Given the description of an element on the screen output the (x, y) to click on. 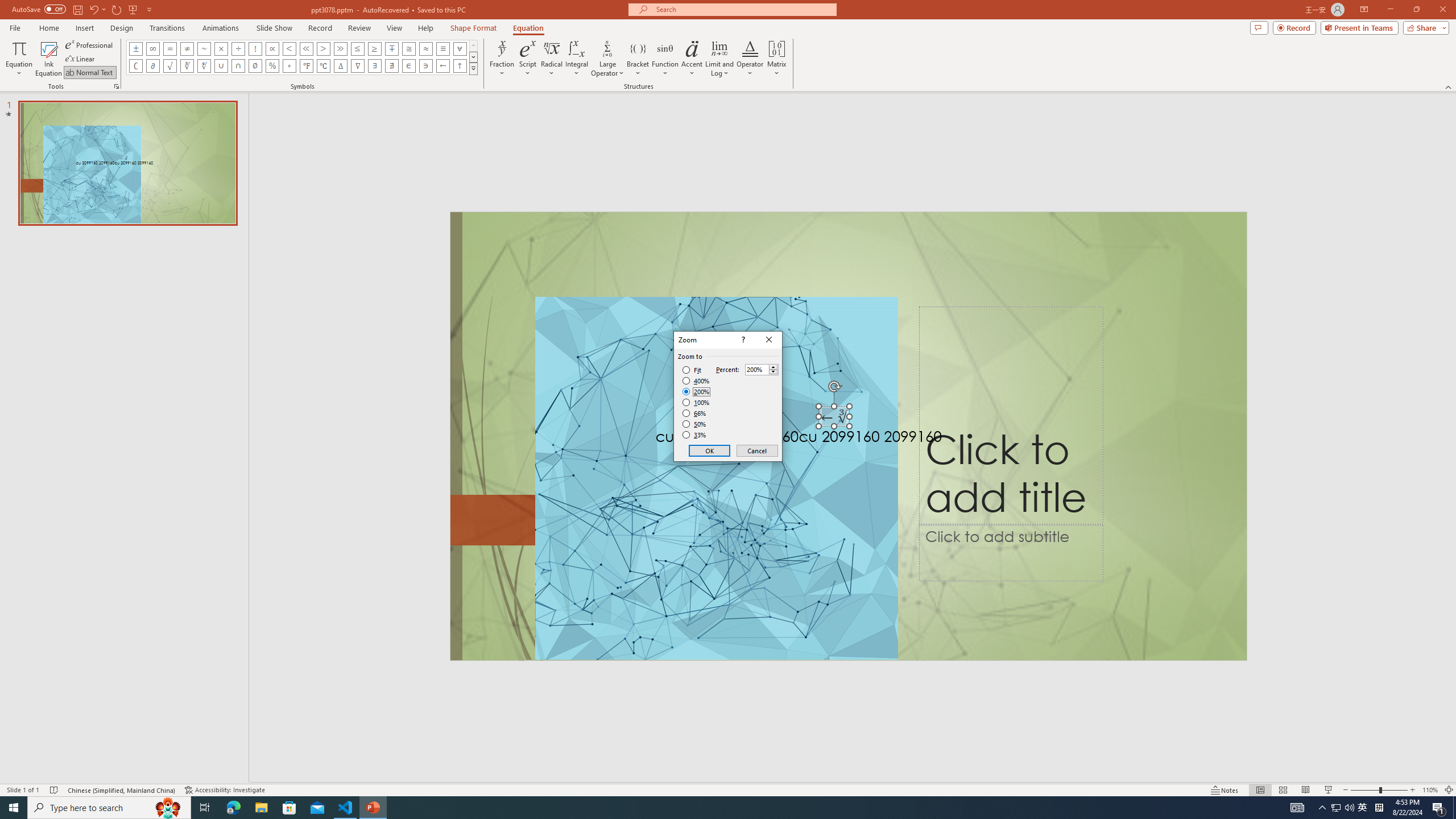
Equation Symbol Much Less Than (306, 48)
Equation Symbol Union (221, 65)
Normal Text (90, 72)
OK (709, 450)
Equation Symbol Factorial (255, 48)
Percent (756, 369)
Equation Symbols (472, 68)
Fraction (502, 58)
